Given the description of an element on the screen output the (x, y) to click on. 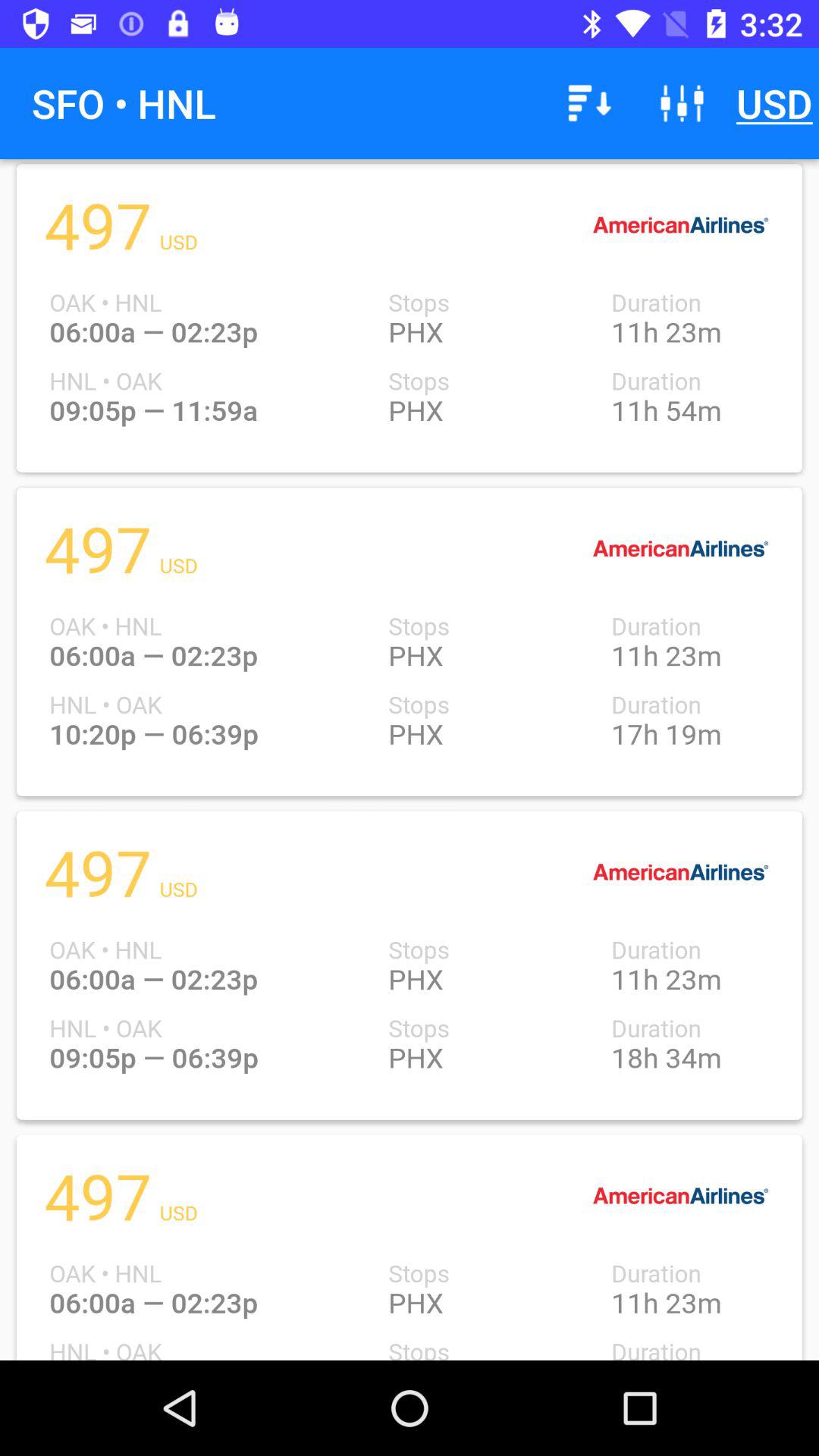
open icon next to the usd (682, 103)
